Given the description of an element on the screen output the (x, y) to click on. 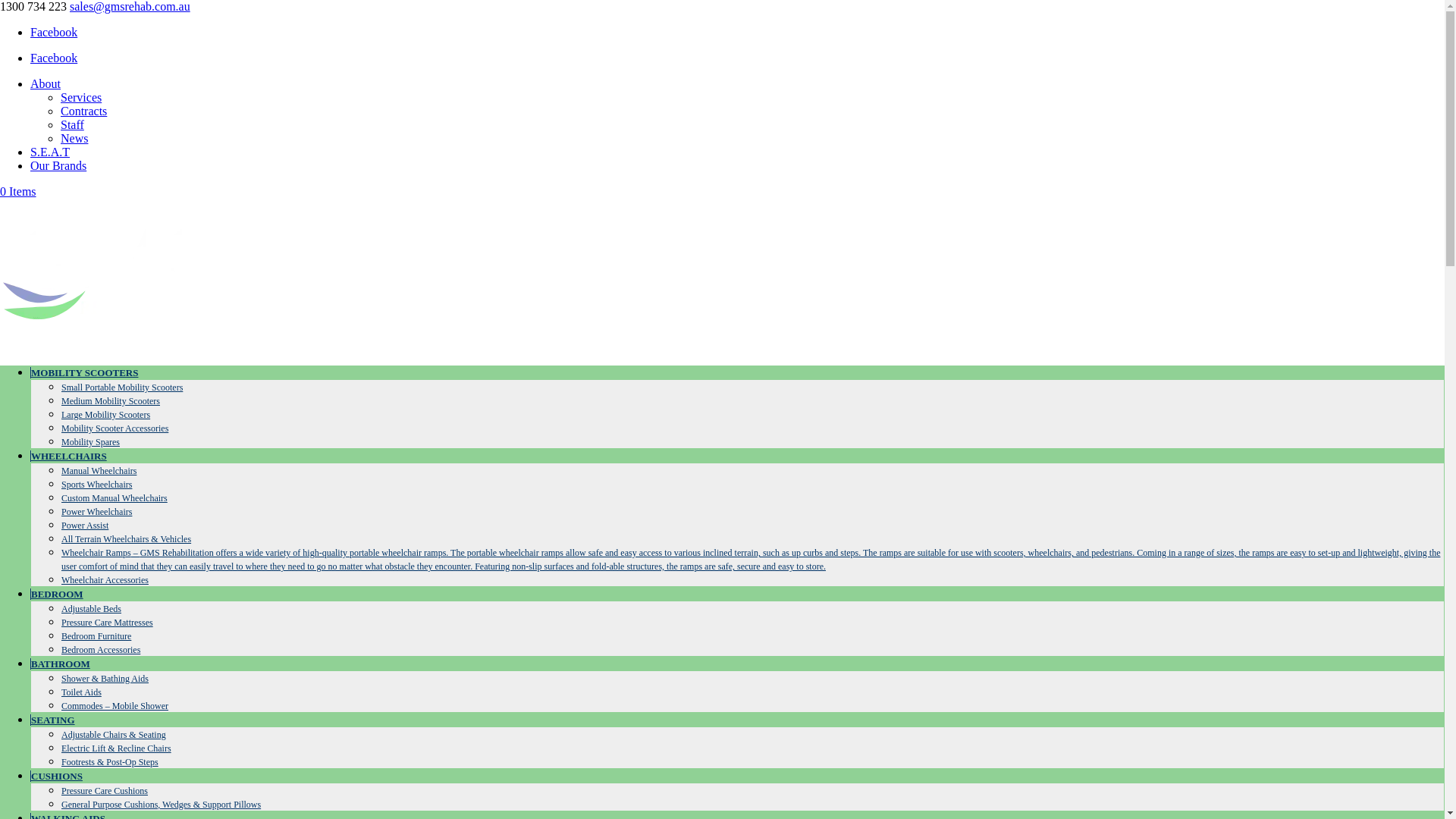
Our Brands Element type: text (58, 165)
sales@gmsrehab.com.au Element type: text (129, 6)
General Purpose Cushions, Wedges & Support Pillows Element type: text (160, 804)
Bedroom Accessories Element type: text (100, 649)
BEDROOM Element type: text (56, 593)
Large Mobility Scooters Element type: text (105, 414)
Toilet Aids Element type: text (81, 692)
Services Element type: text (80, 97)
Power Wheelchairs Element type: text (96, 511)
BATHROOM Element type: text (60, 663)
Footrests & Post-Op Steps Element type: text (109, 761)
All Terrain Wheelchairs & Vehicles Element type: text (126, 538)
CUSHIONS Element type: text (56, 775)
Electric Lift & Recline Chairs Element type: text (116, 748)
Bedroom Furniture Element type: text (96, 635)
Facebook Element type: text (53, 31)
Custom Manual Wheelchairs Element type: text (114, 497)
Medium Mobility Scooters Element type: text (110, 400)
Shower & Bathing Aids Element type: text (104, 678)
MOBILITY SCOOTERS Element type: text (84, 372)
Pressure Care Mattresses Element type: text (107, 622)
Wheelchair Accessories Element type: text (104, 579)
Contracts Element type: text (83, 110)
Manual Wheelchairs Element type: text (98, 470)
About Element type: text (45, 83)
SEATING Element type: text (52, 719)
0 Items Element type: text (18, 191)
Pressure Care Cushions Element type: text (104, 790)
Facebook Element type: text (53, 57)
Sports Wheelchairs Element type: text (96, 484)
Adjustable Chairs & Seating Element type: text (113, 734)
Staff Element type: text (72, 124)
Mobility Scooter Accessories Element type: text (114, 428)
Mobility Spares Element type: text (90, 441)
Power Assist Element type: text (84, 525)
S.E.A.T Element type: text (49, 151)
News Element type: text (73, 137)
Small Portable Mobility Scooters Element type: text (121, 387)
Adjustable Beds Element type: text (91, 608)
WHEELCHAIRS Element type: text (68, 455)
